Given the description of an element on the screen output the (x, y) to click on. 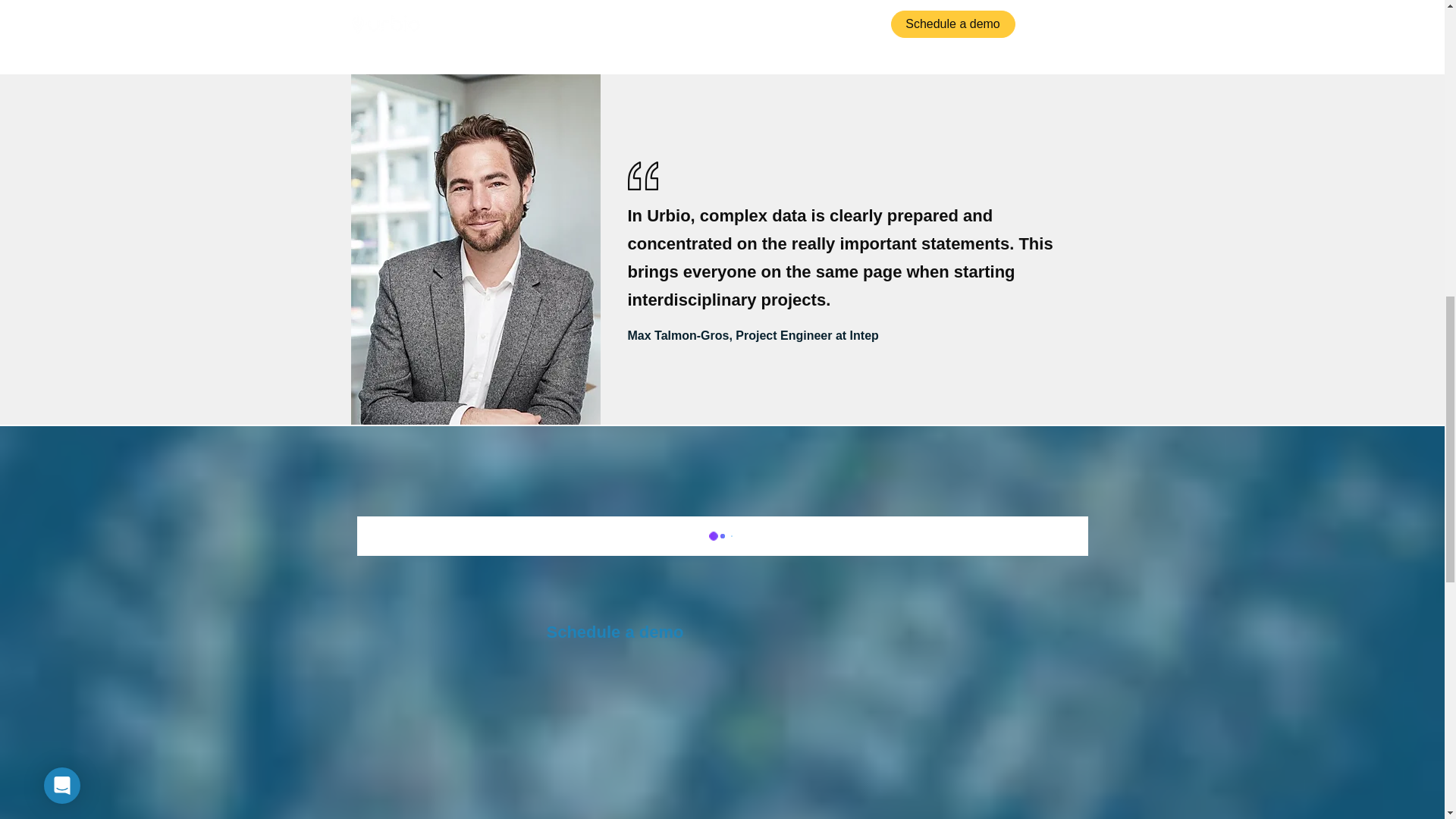
Embedded Content (721, 13)
